Given the description of an element on the screen output the (x, y) to click on. 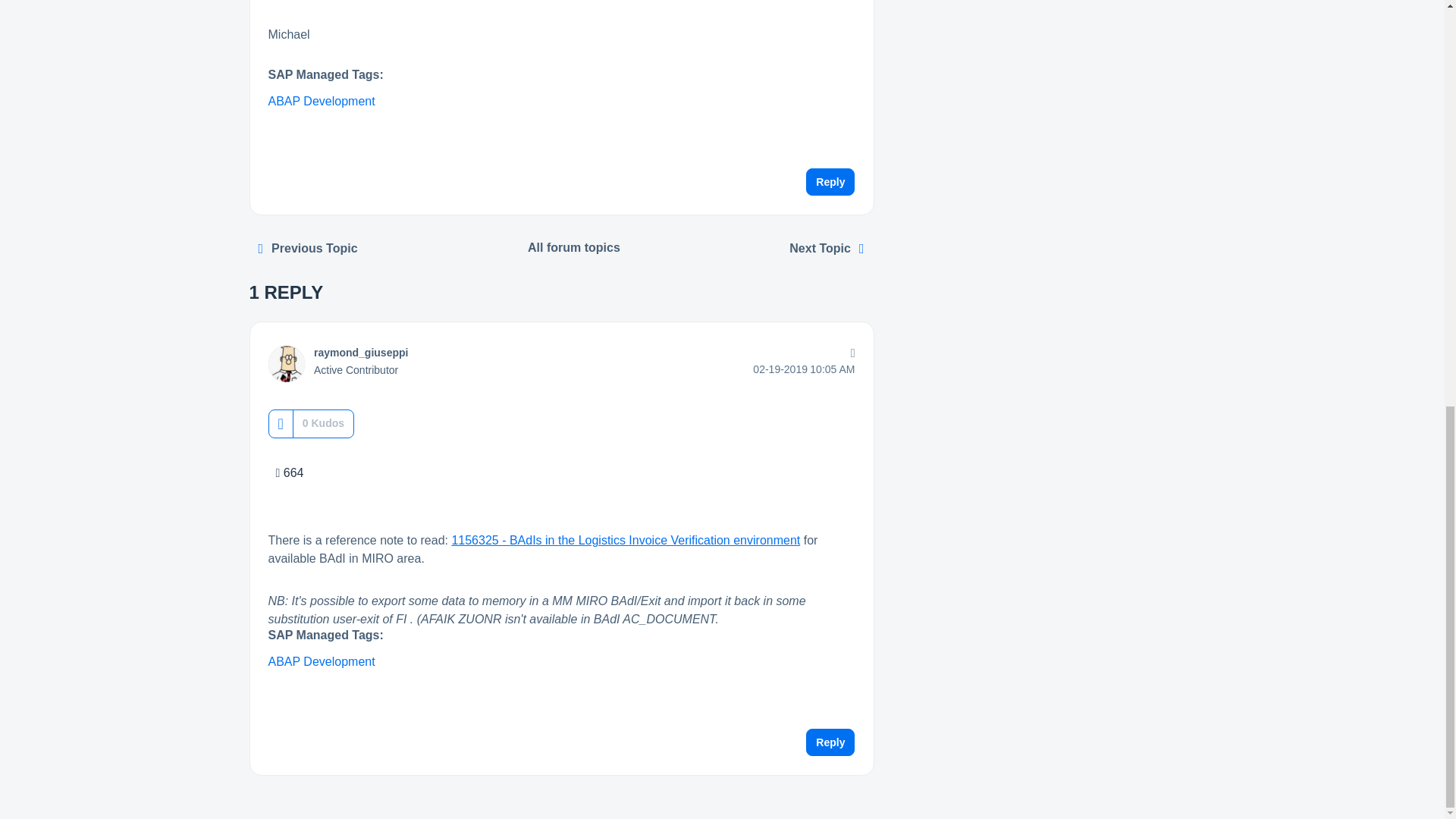
ABAP Development (321, 101)
Application Development Discussions (574, 247)
All forum topics (574, 247)
Reply (830, 181)
Next Topic (825, 248)
Call screen starting at - mystery (308, 248)
Previous Topic (308, 248)
